Given the description of an element on the screen output the (x, y) to click on. 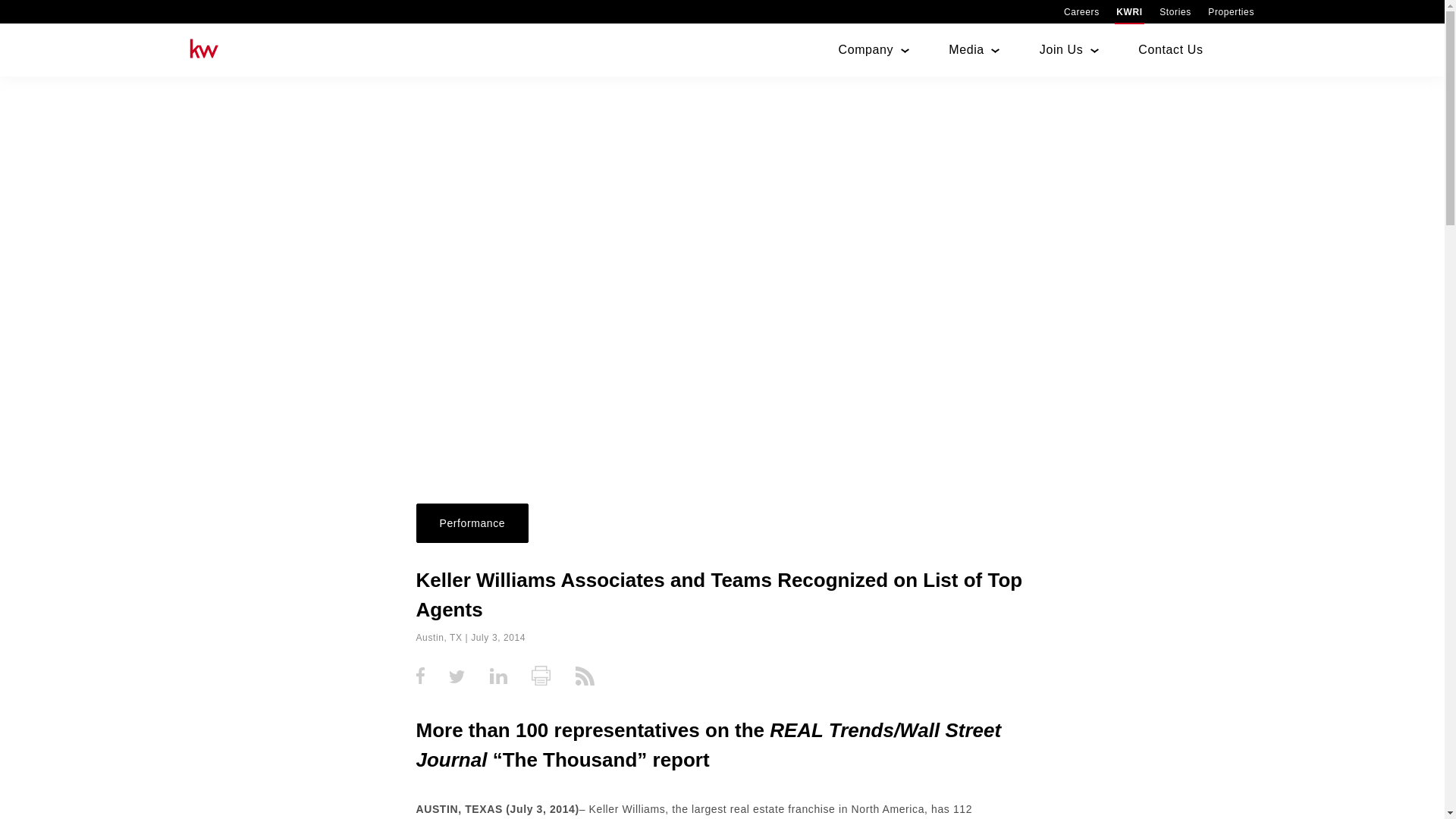
Stories (1174, 10)
Properties (1230, 10)
Company (865, 49)
Contact Us (1170, 49)
Media (966, 49)
Join Us (1061, 49)
Careers (1081, 10)
Performance (471, 522)
KWRI (1128, 10)
